Given the description of an element on the screen output the (x, y) to click on. 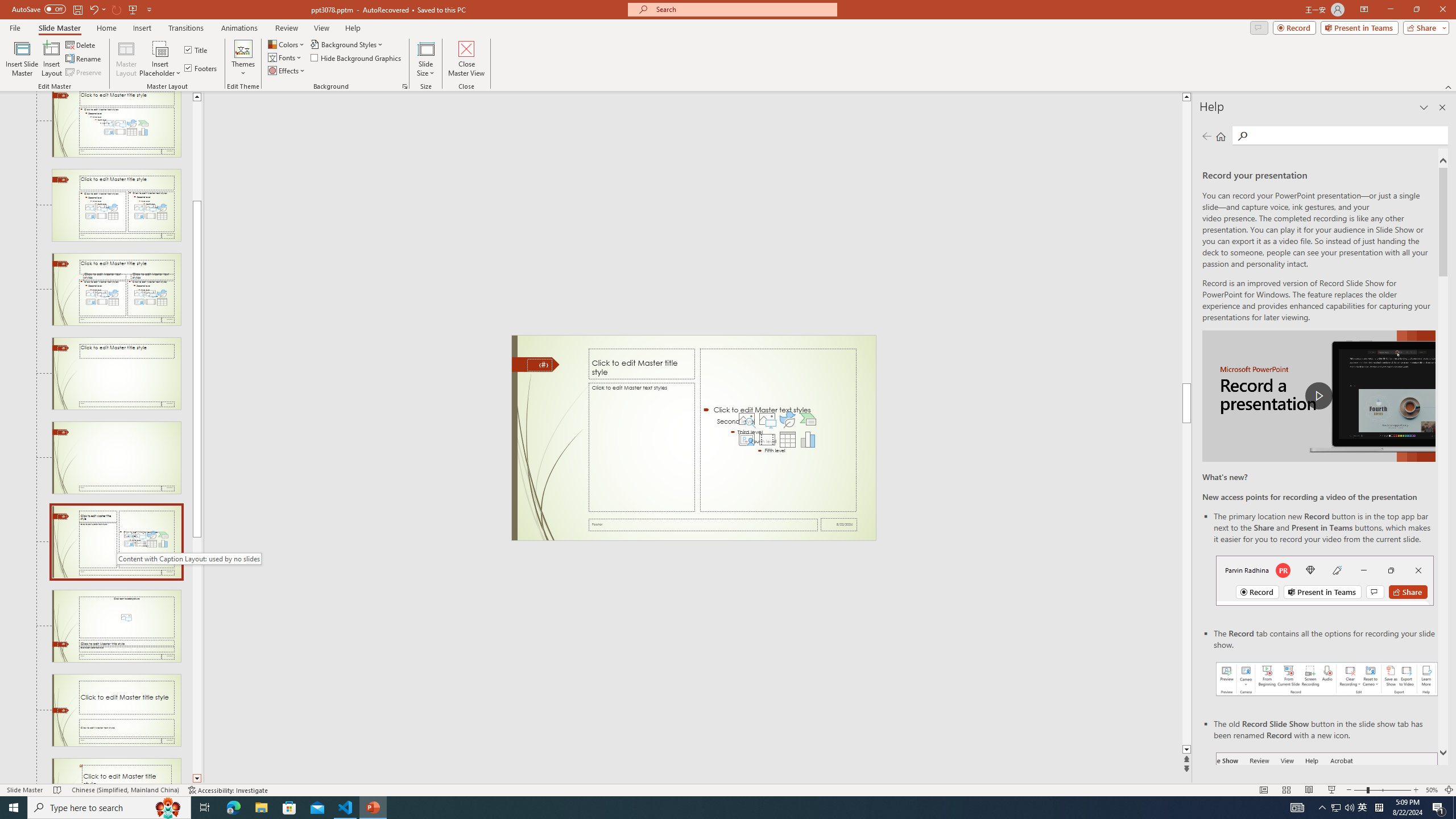
Master Layout... (126, 58)
Insert Cameo (746, 439)
Slide Title and Content Layout: used by no slides (116, 124)
Footers (201, 67)
Slide Two Content Layout: used by no slides (116, 204)
Hide Background Graphics (356, 56)
Slide Title and Caption Layout: used by no slides (116, 710)
